Given the description of an element on the screen output the (x, y) to click on. 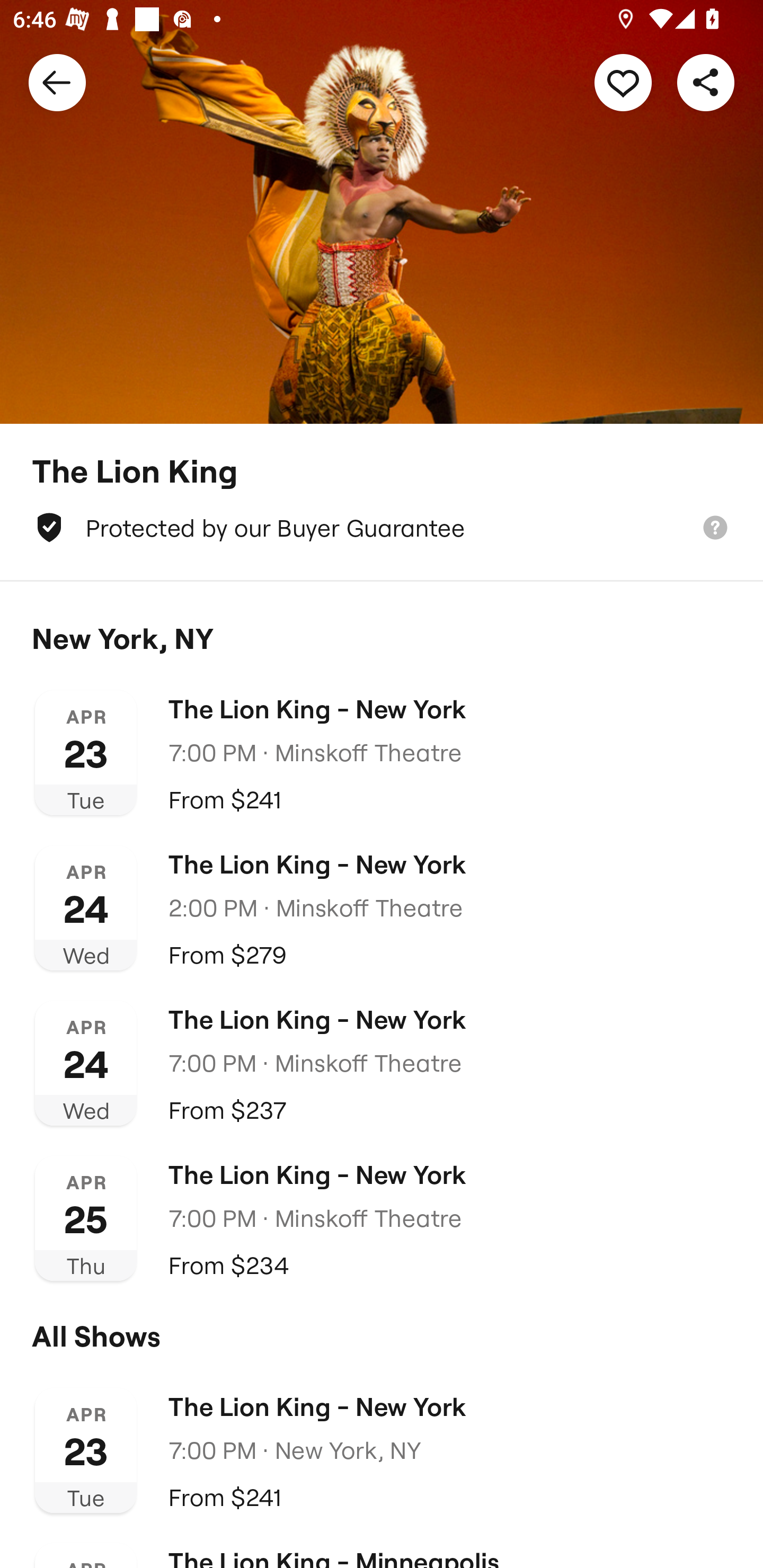
Back (57, 81)
Track this performer (623, 81)
Share this performer (705, 81)
Protected by our Buyer Guarantee Learn more (381, 527)
